Given the description of an element on the screen output the (x, y) to click on. 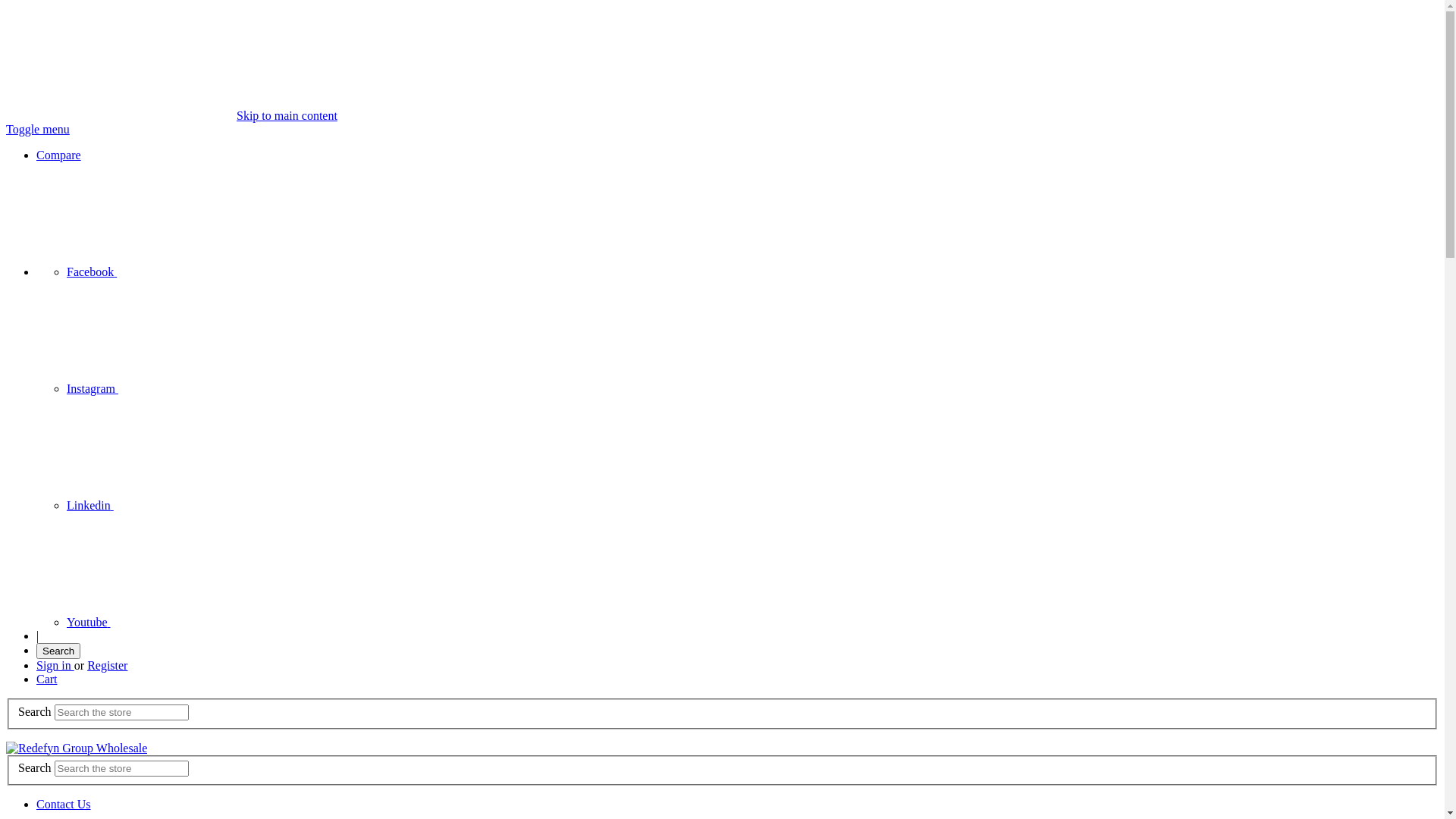
Linkedin Element type: text (203, 504)
Skip to main content Element type: text (286, 115)
Instagram Element type: text (205, 388)
Register Element type: text (107, 664)
Compare Element type: text (58, 154)
Youtube Element type: text (202, 621)
Contact Us Element type: text (63, 803)
Toggle menu Element type: text (37, 128)
Cart Element type: text (46, 678)
Search Element type: text (58, 650)
Sign in Element type: text (55, 664)
Redefyn Group Wholesale Element type: hover (76, 748)
Facebook Element type: text (205, 271)
